Given the description of an element on the screen output the (x, y) to click on. 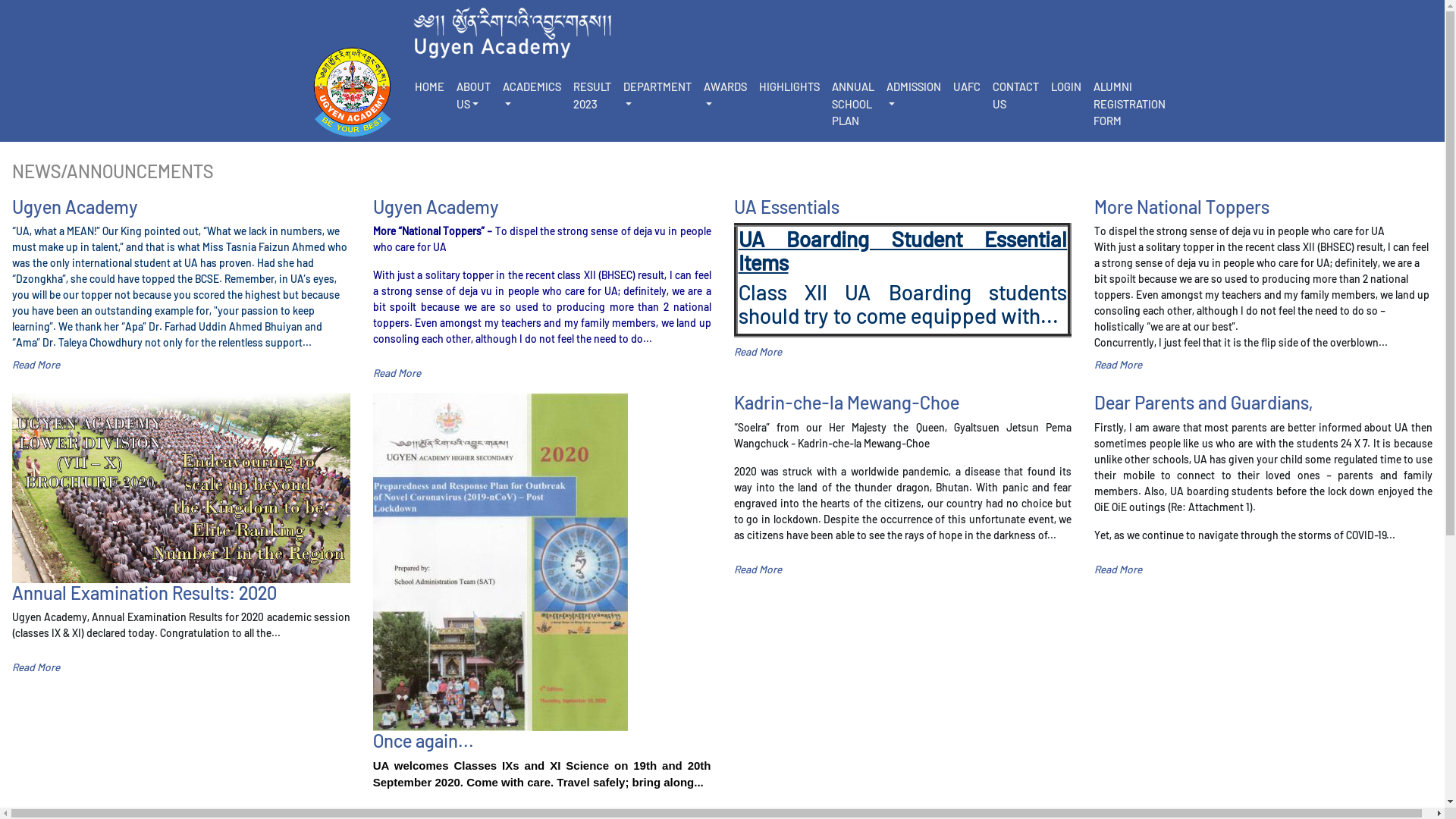
ANNUAL SCHOOL PLAN Element type: text (852, 103)
ACADEMICS Element type: text (530, 95)
ABOUT US Element type: text (473, 95)
CONTACT US Element type: text (1014, 95)
DEPARTMENT Element type: text (657, 95)
UAFC Element type: text (965, 86)
HIGHLIGHTS Element type: text (788, 86)
Read More Element type: text (35, 363)
LOGIN Element type: text (1065, 86)
Read More Element type: text (1118, 568)
Annual Examination Results: 2020 Element type: text (181, 592)
Read More Element type: text (757, 351)
Ugyen Academy Element type: text (542, 206)
Ugyen Academy Element type: text (181, 206)
Dear Parents and Guardians, Element type: text (1263, 402)
AWARDS Element type: text (725, 95)
HOME Element type: text (428, 86)
Read More Element type: text (757, 568)
Read More Element type: text (396, 372)
Read More Element type: text (1118, 363)
UA Essentials Element type: text (903, 206)
ALUMNI REGISTRATION FORM Element type: text (1129, 103)
Once again... Element type: text (542, 740)
RESULT 2023 Element type: text (592, 95)
Kadrin-che-la Mewang-Choe Element type: text (903, 402)
ADMISSION Element type: text (912, 95)
More National Toppers Element type: text (1263, 206)
Read More Element type: text (35, 666)
